Given the description of an element on the screen output the (x, y) to click on. 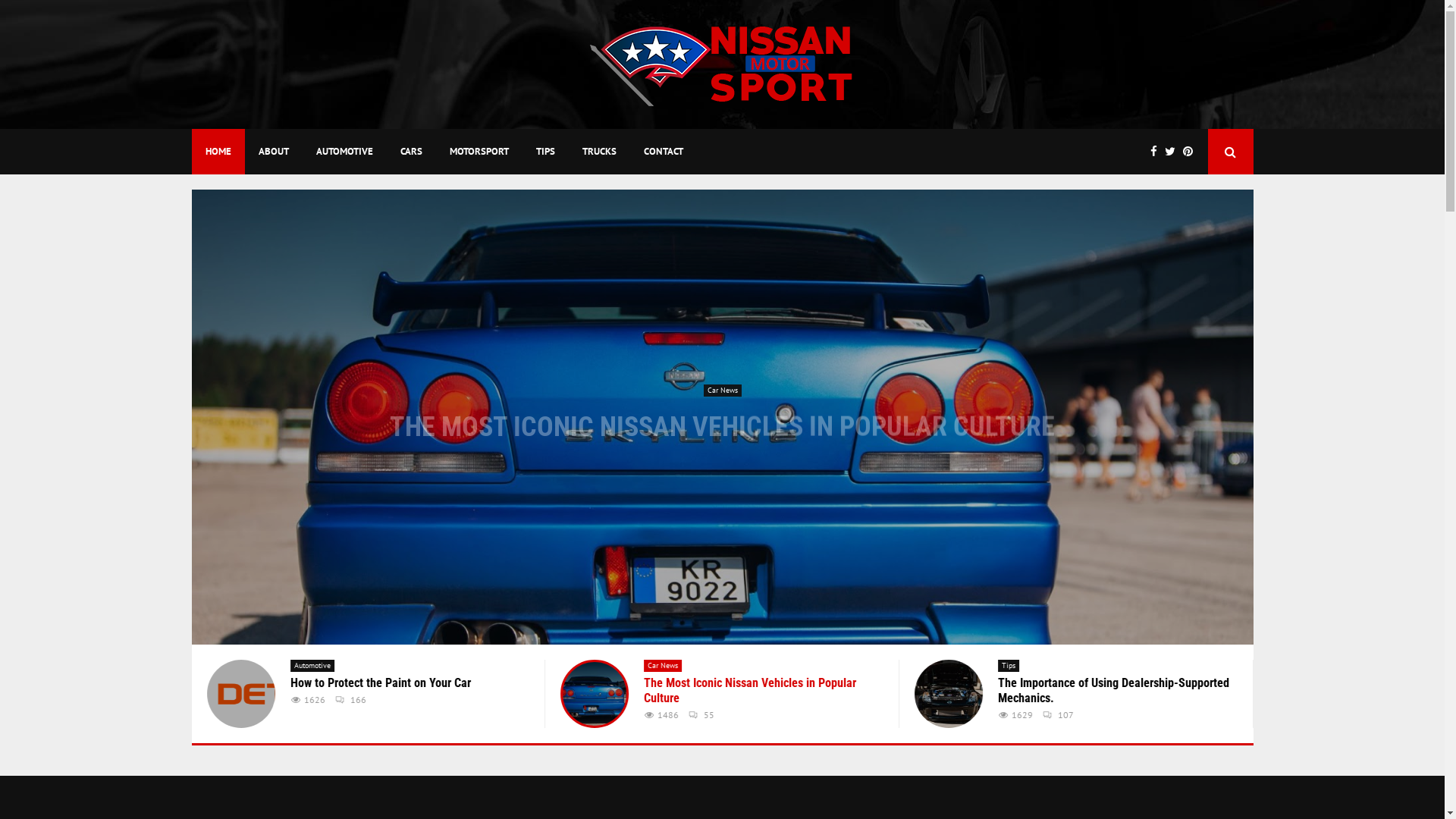
166 Element type: text (1057, 699)
How to Protect the Paint on Your Car Element type: hover (721, 416)
CONTACT Element type: text (662, 151)
TRUCKS Element type: text (599, 151)
0 Element type: text (328, 714)
How To Flush a Car Radiator System Element type: text (732, 682)
92 Element type: text (696, 699)
AUTOMOTIVE Element type: text (343, 151)
Automotive Element type: text (1019, 665)
Automotive Element type: text (311, 665)
Pinterest Element type: hover (1191, 151)
Automotive Element type: text (722, 389)
Facebook Element type: hover (1156, 151)
How To Flush a Car Radiator System Element type: hover (594, 693)
MOTORSPORT Element type: text (478, 151)
HOW TO FLUSH A CAR RADIATOR SYSTEM Element type: text (722, 416)
TIPS Element type: text (544, 151)
Automotive Element type: text (665, 665)
HOME Element type: text (217, 151)
CARS Element type: text (411, 151)
92 comments Element type: text (761, 444)
How to Protect the Paint on Your Car Element type: text (1087, 682)
ABOUT Element type: text (272, 151)
How to Protect the Paint on Your Car Element type: hover (948, 693)
Twitter Element type: hover (1173, 151)
